Given the description of an element on the screen output the (x, y) to click on. 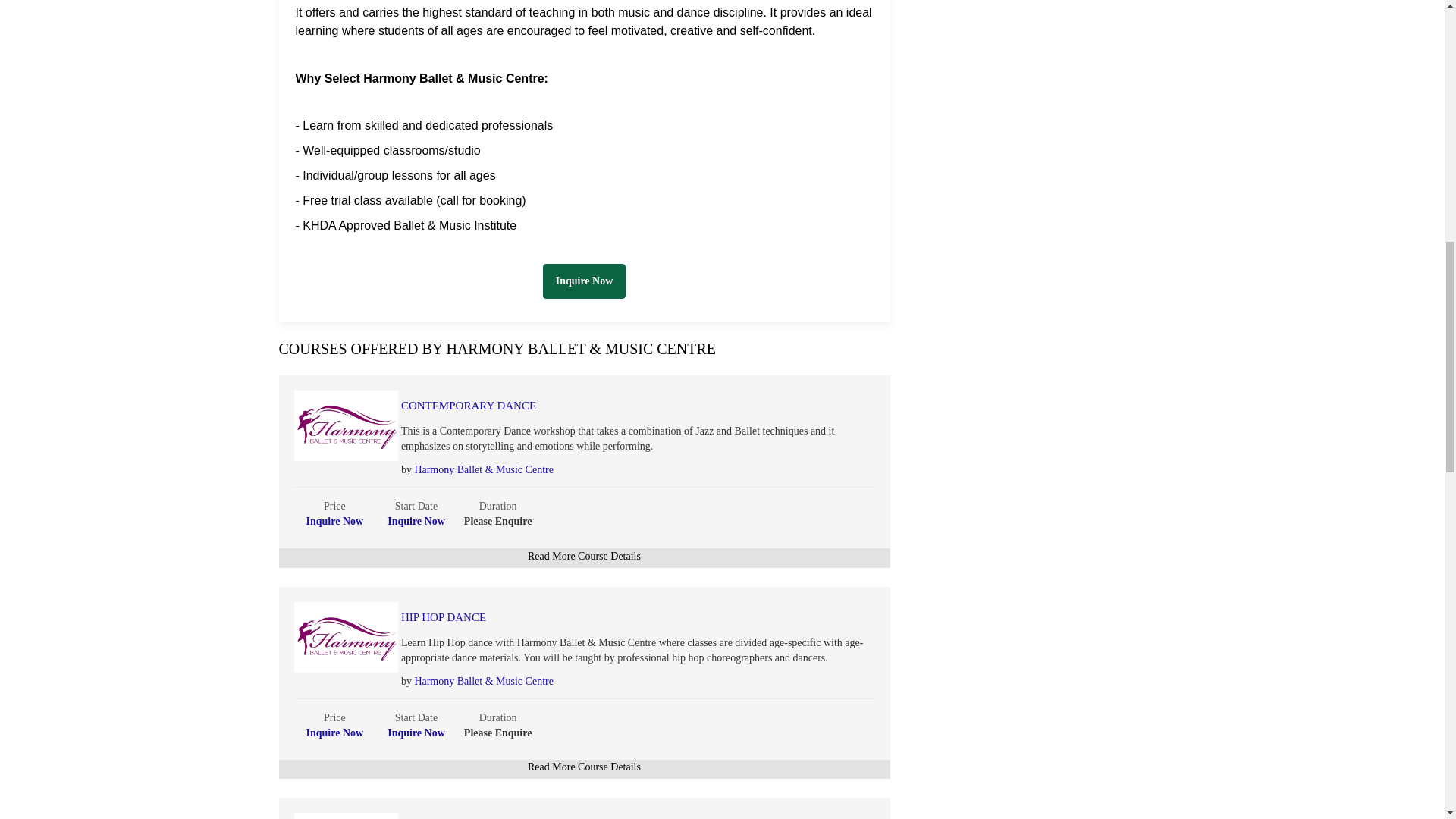
Inquire Now (584, 280)
Read More Course Details (583, 555)
Hip Hop Dance (602, 617)
Contemporary Dance (602, 405)
HIP HOP DANCE (602, 617)
Read More Course Details (583, 767)
Inquire Now (416, 521)
CONTEMPORARY DANCE (602, 405)
Inquire Now (334, 521)
Inquire Now (416, 732)
Inquire Now (334, 732)
Inquire Now (584, 280)
